Given the description of an element on the screen output the (x, y) to click on. 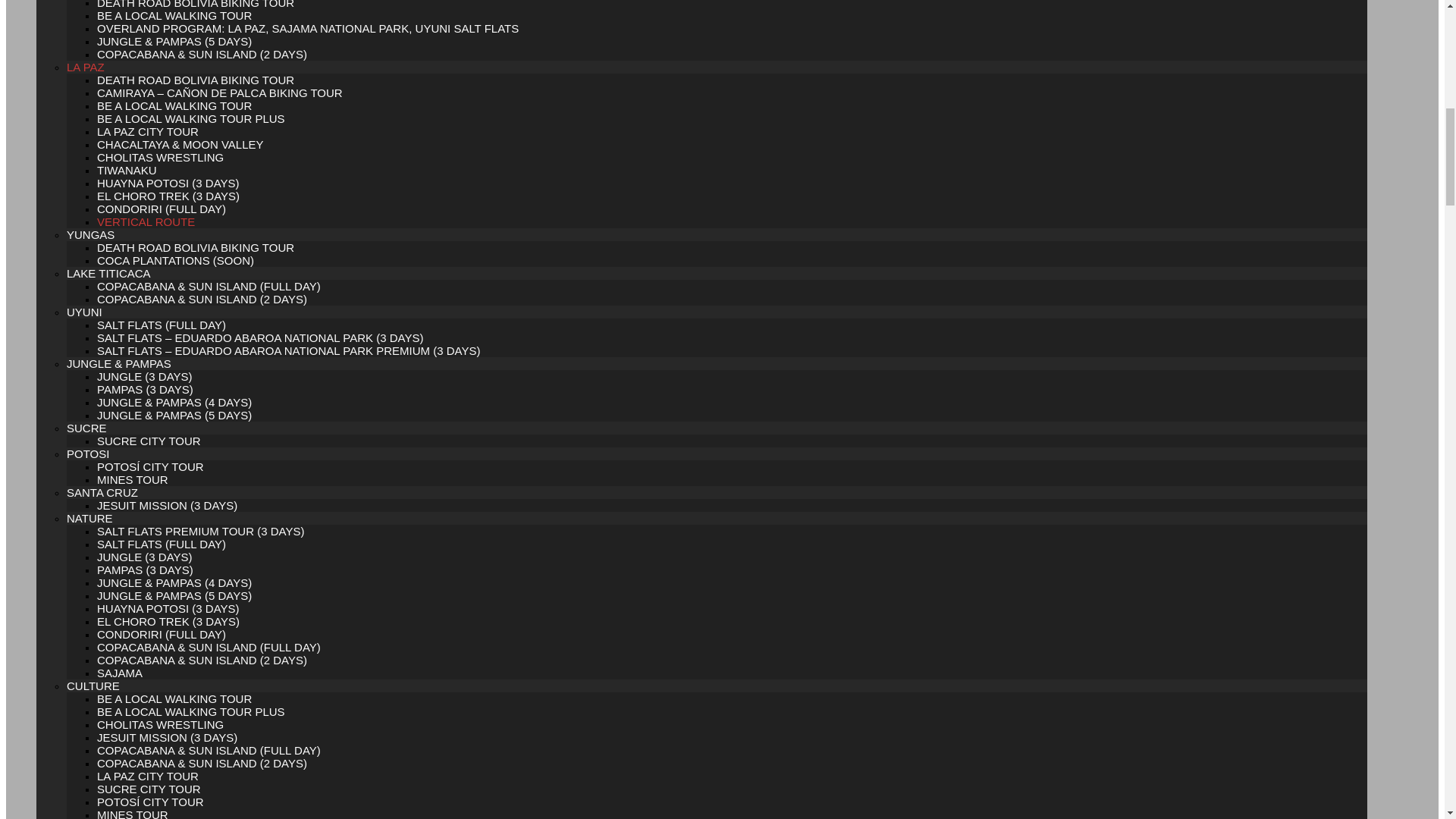
BE A LOCAL WALKING TOUR PLUS (191, 118)
DEATH ROAD BOLIVIA BIKING TOUR (195, 79)
CHOLITAS WRESTLING (160, 156)
DEATH ROAD BOLIVIA BIKING TOUR (195, 4)
BE A LOCAL WALKING TOUR (174, 15)
LA PAZ (85, 66)
LA PAZ CITY TOUR (147, 131)
BE A LOCAL WALKING TOUR (174, 105)
